Given the description of an element on the screen output the (x, y) to click on. 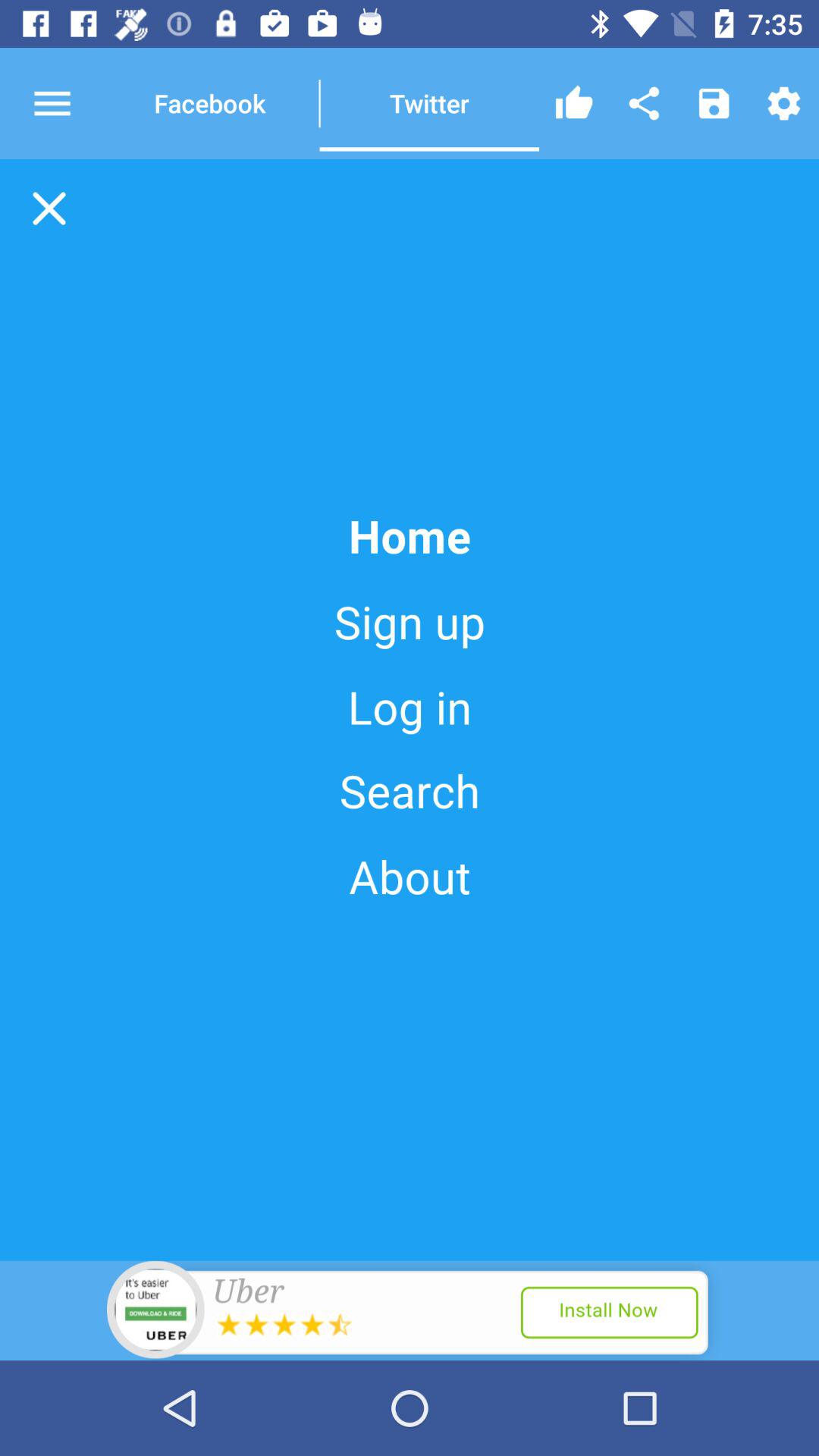
click more option (65, 103)
